Given the description of an element on the screen output the (x, y) to click on. 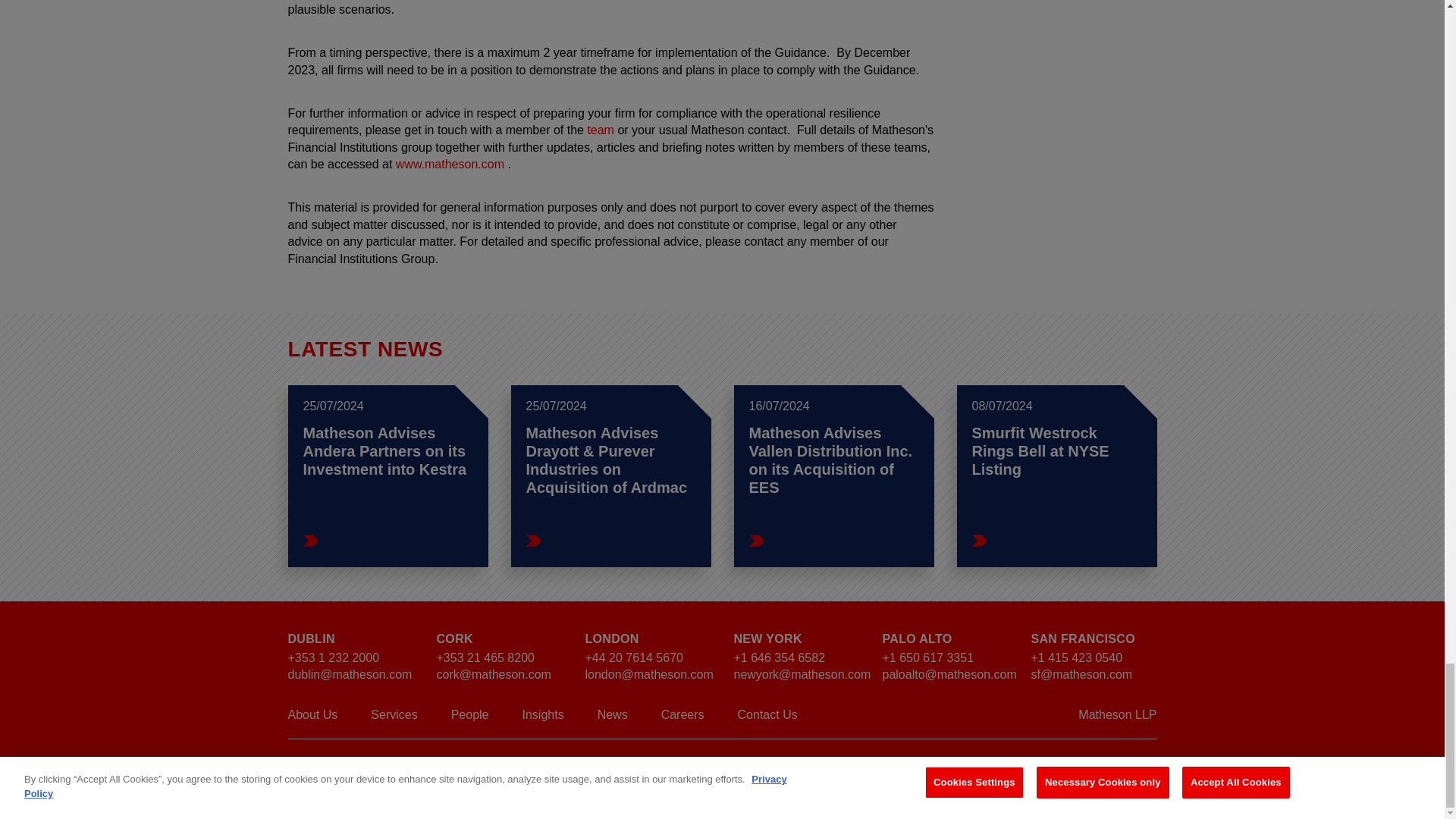
team (600, 129)
www.matheson.com (449, 164)
